Given the description of an element on the screen output the (x, y) to click on. 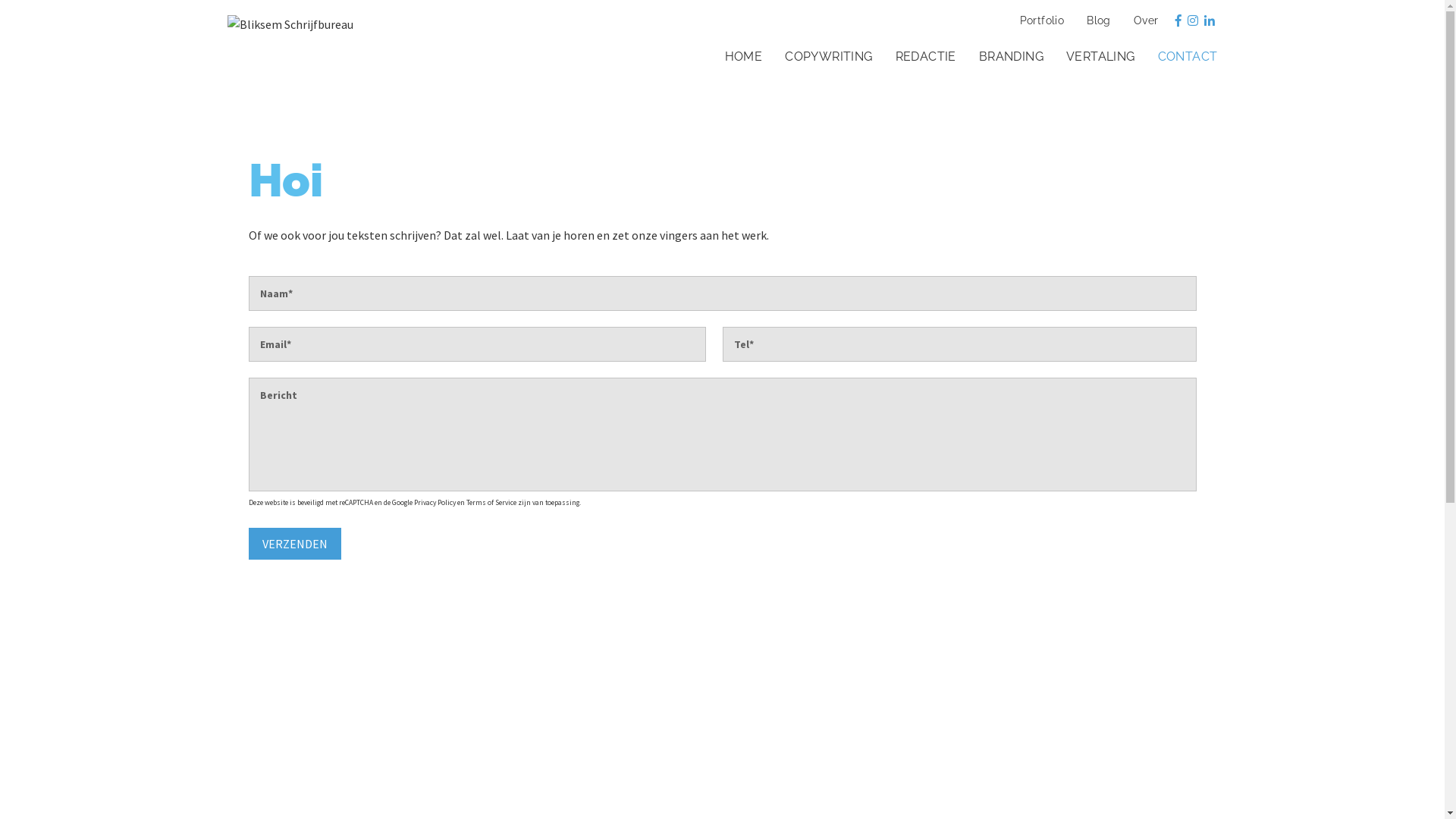
BRANDING Element type: text (1007, 57)
VERTALING Element type: text (1096, 57)
HOME Element type: text (739, 57)
COPYWRITING Element type: text (824, 57)
REDACTIE Element type: text (922, 57)
Terms of Service Element type: text (490, 502)
Over Element type: text (1142, 20)
VERZENDEN Element type: text (294, 543)
CONTACT Element type: text (1183, 57)
Privacy Policy Element type: text (434, 502)
info@bliksemschrijfbureau.be Element type: text (326, 793)
056 96 06 02 Element type: text (279, 774)
Bliksem Schrijfbureau Element type: hover (290, 22)
Portfolio Element type: text (1038, 20)
Blog Element type: text (1094, 20)
